Given the description of an element on the screen output the (x, y) to click on. 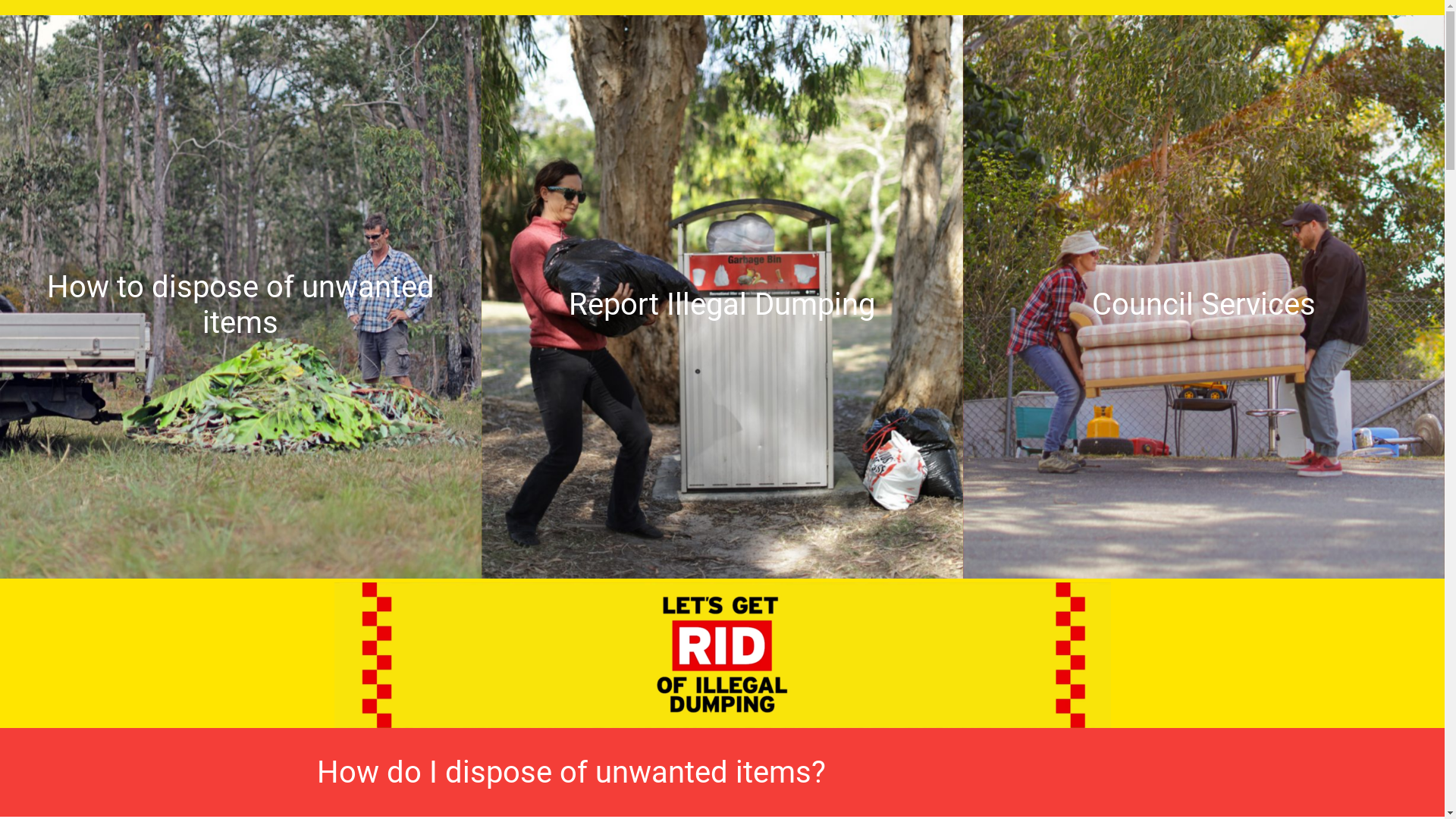
Kyogle Element type: text (1110, 349)
Resources Element type: text (1050, 24)
Report it Element type: text (918, 24)
Learn more... Element type: text (240, 374)
Lismore City Element type: text (1036, 349)
About Element type: text (1124, 24)
Tweed Shire Element type: text (1145, 368)
Richmond Valley Element type: text (1248, 368)
HOME Element type: text (848, 24)
Ballina Shire Element type: text (1382, 349)
FAQ Element type: text (981, 24)
Byron Shire Element type: text (1294, 349)
Clarence Valley Element type: text (1193, 349)
